Given the description of an element on the screen output the (x, y) to click on. 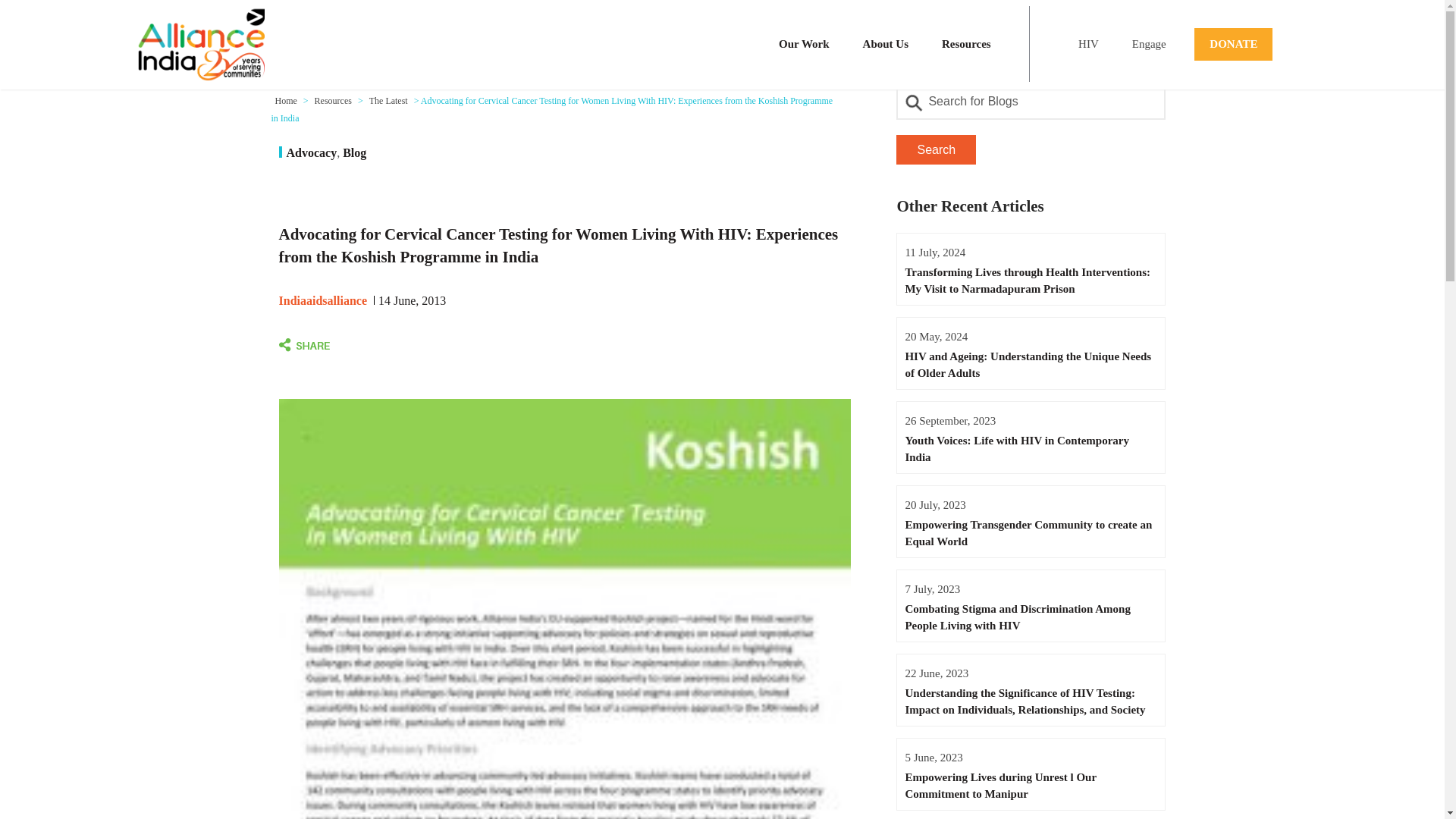
Blog (354, 152)
Engage (1148, 44)
Youth Voices: Life with HIV in Contemporary India (1030, 449)
About Us (885, 44)
The Latest (388, 100)
Our Work (803, 44)
DONATE (1232, 43)
Search (935, 149)
Search (935, 149)
Advocacy (311, 152)
Empowering Transgender Community to create an Equal World (1030, 532)
Posts by indiaaidsalliance (322, 300)
Indiaaidsalliance (322, 300)
